Given the description of an element on the screen output the (x, y) to click on. 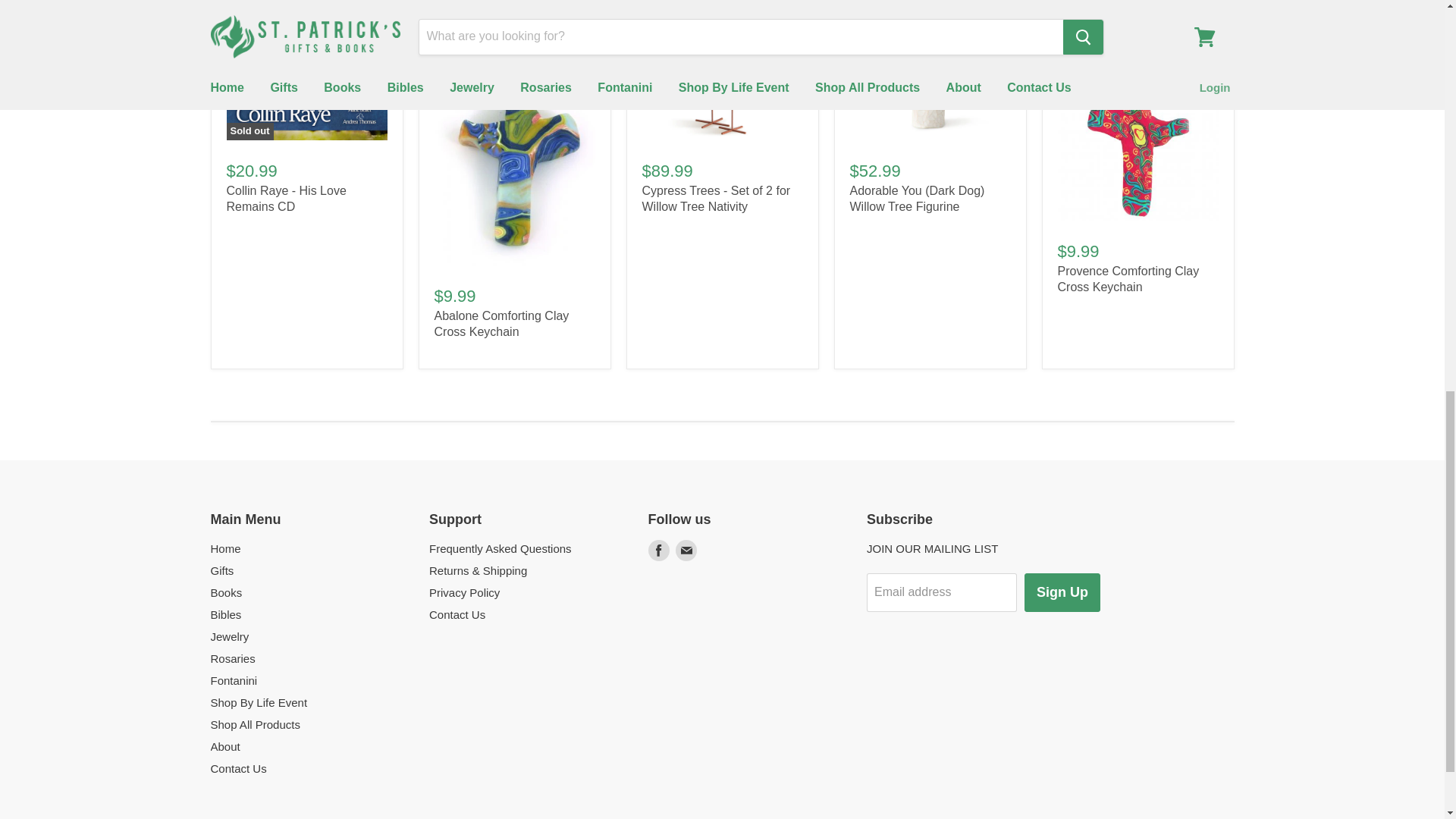
Facebook (658, 550)
E-mail (684, 550)
